Given the description of an element on the screen output the (x, y) to click on. 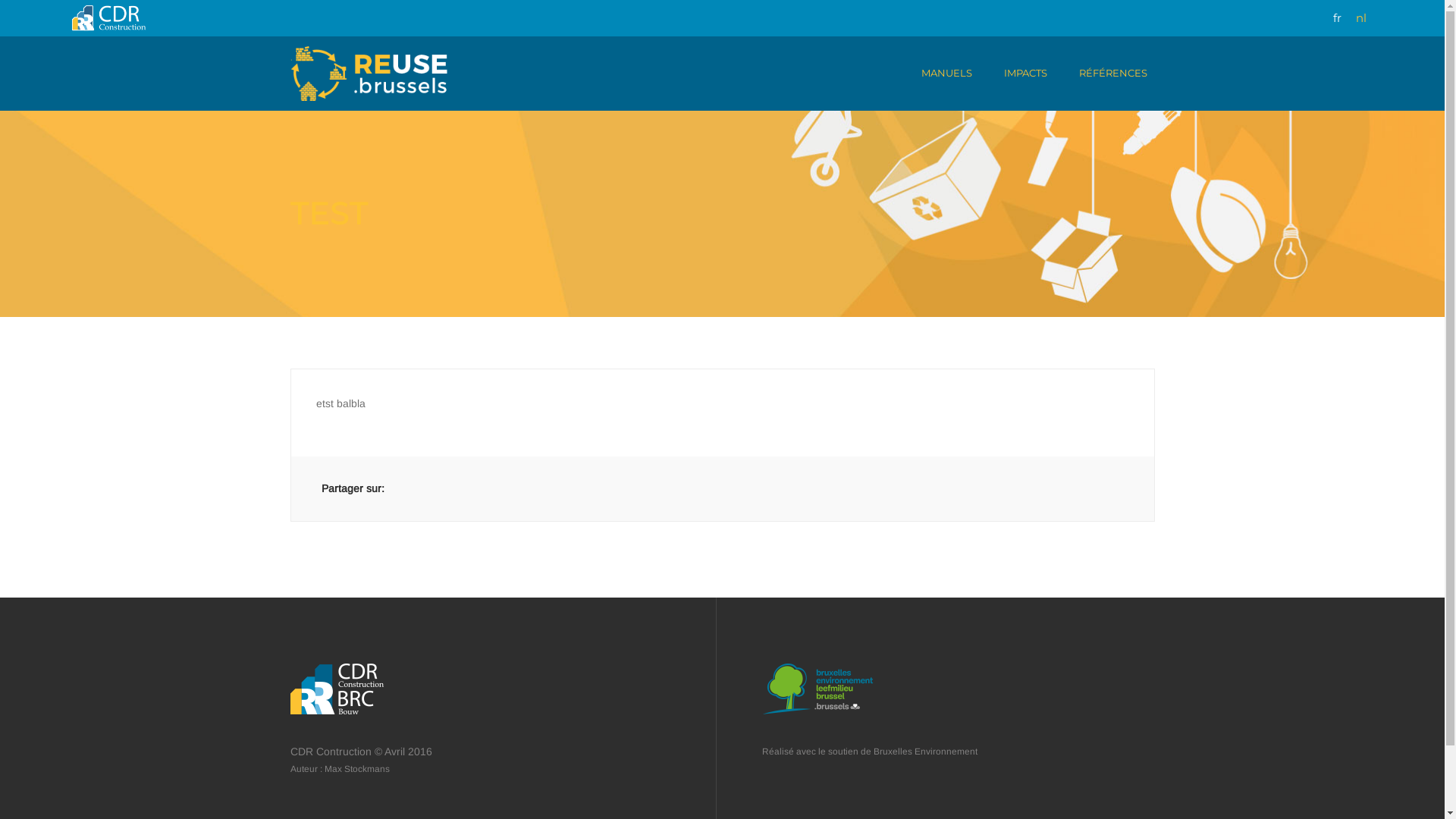
fr Element type: text (1337, 17)
MANUELS Element type: text (946, 72)
nl Element type: text (1360, 17)
IMPACTS Element type: text (1025, 72)
